Given the description of an element on the screen output the (x, y) to click on. 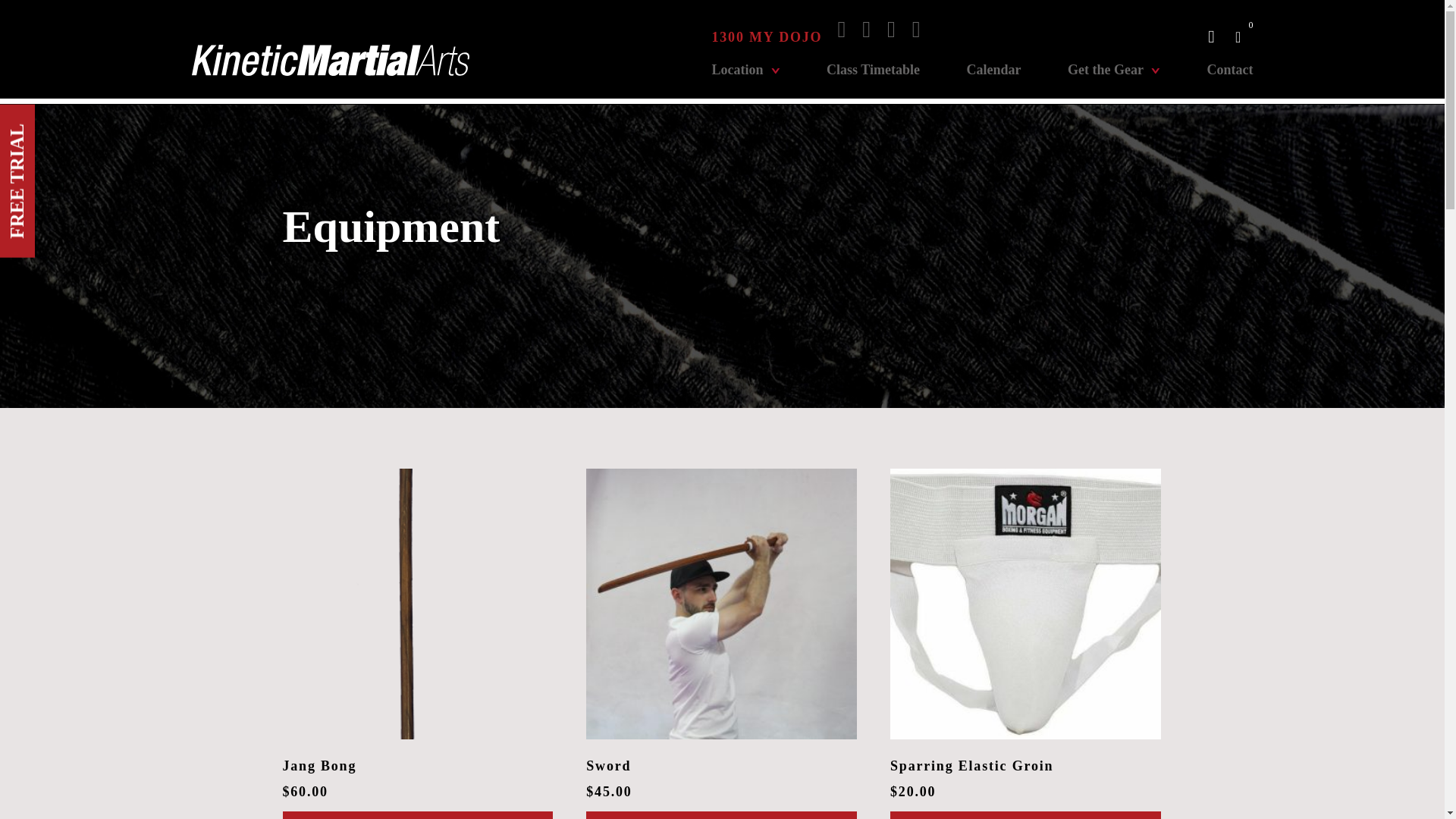
Location (744, 79)
Add to Cart (721, 815)
Get the Gear (1113, 79)
Calendar (993, 79)
Select options (1024, 815)
FREE TRIAL (76, 121)
Add to Cart (417, 815)
Contact (1229, 79)
1300 MY DOJO (766, 36)
Class Timetable (873, 79)
